Given the description of an element on the screen output the (x, y) to click on. 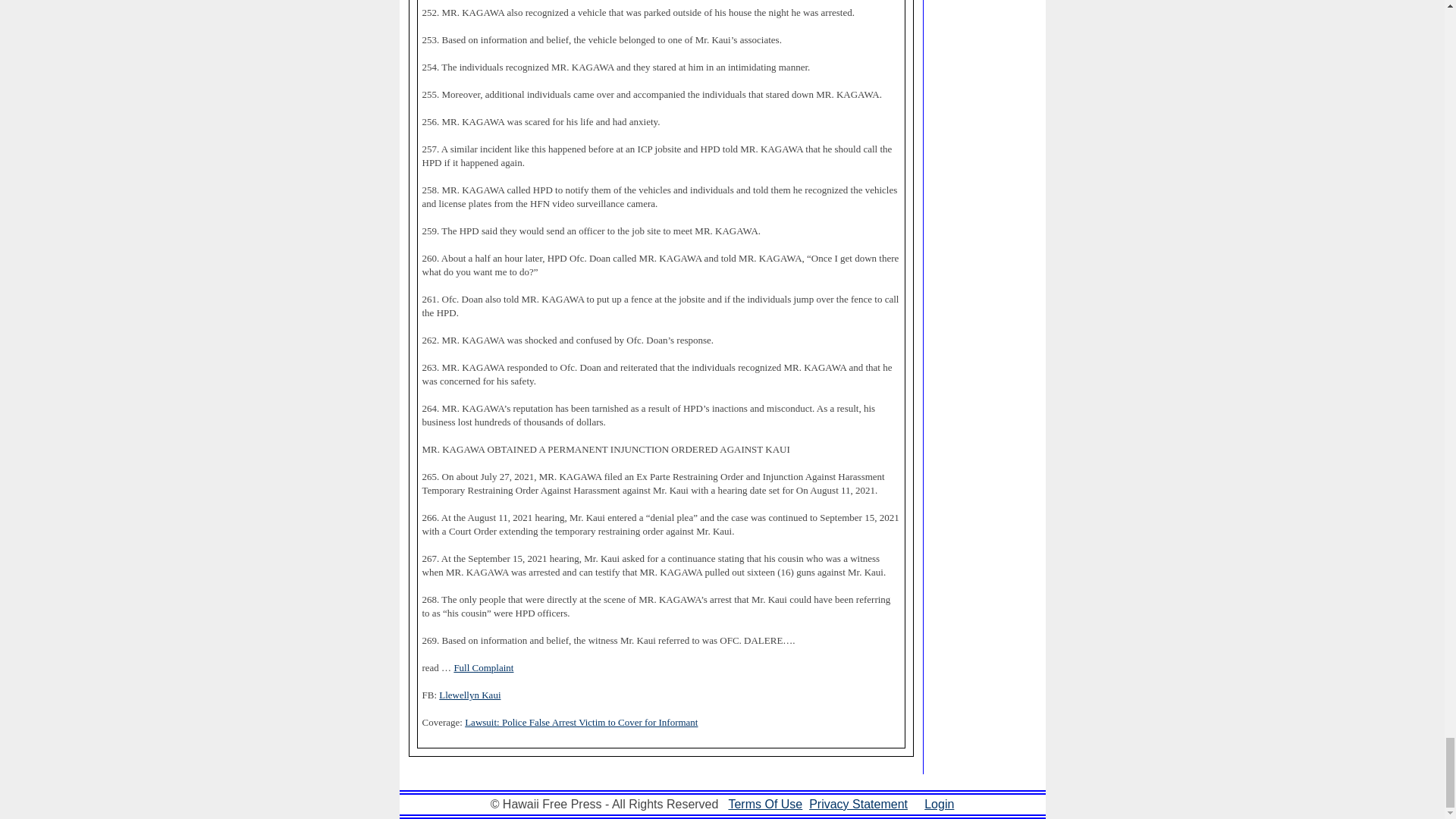
Llewellyn Kaui (469, 695)
Login (938, 803)
Full Complaint (482, 667)
Lawsuit: Police False Arrest Victim to Cover for Informant (580, 722)
